Given the description of an element on the screen output the (x, y) to click on. 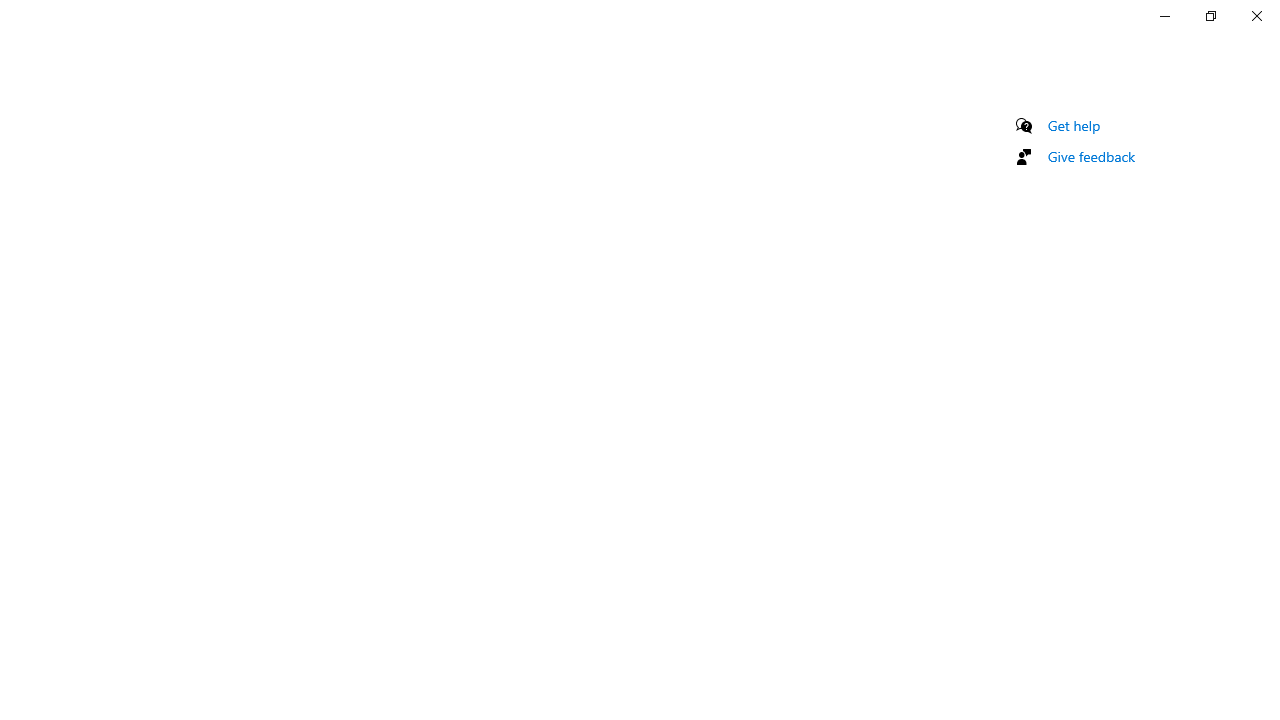
Restore Settings (1210, 15)
Give feedback (1091, 156)
Get help (1074, 125)
Minimize Settings (1164, 15)
Close Settings (1256, 15)
